Given the description of an element on the screen output the (x, y) to click on. 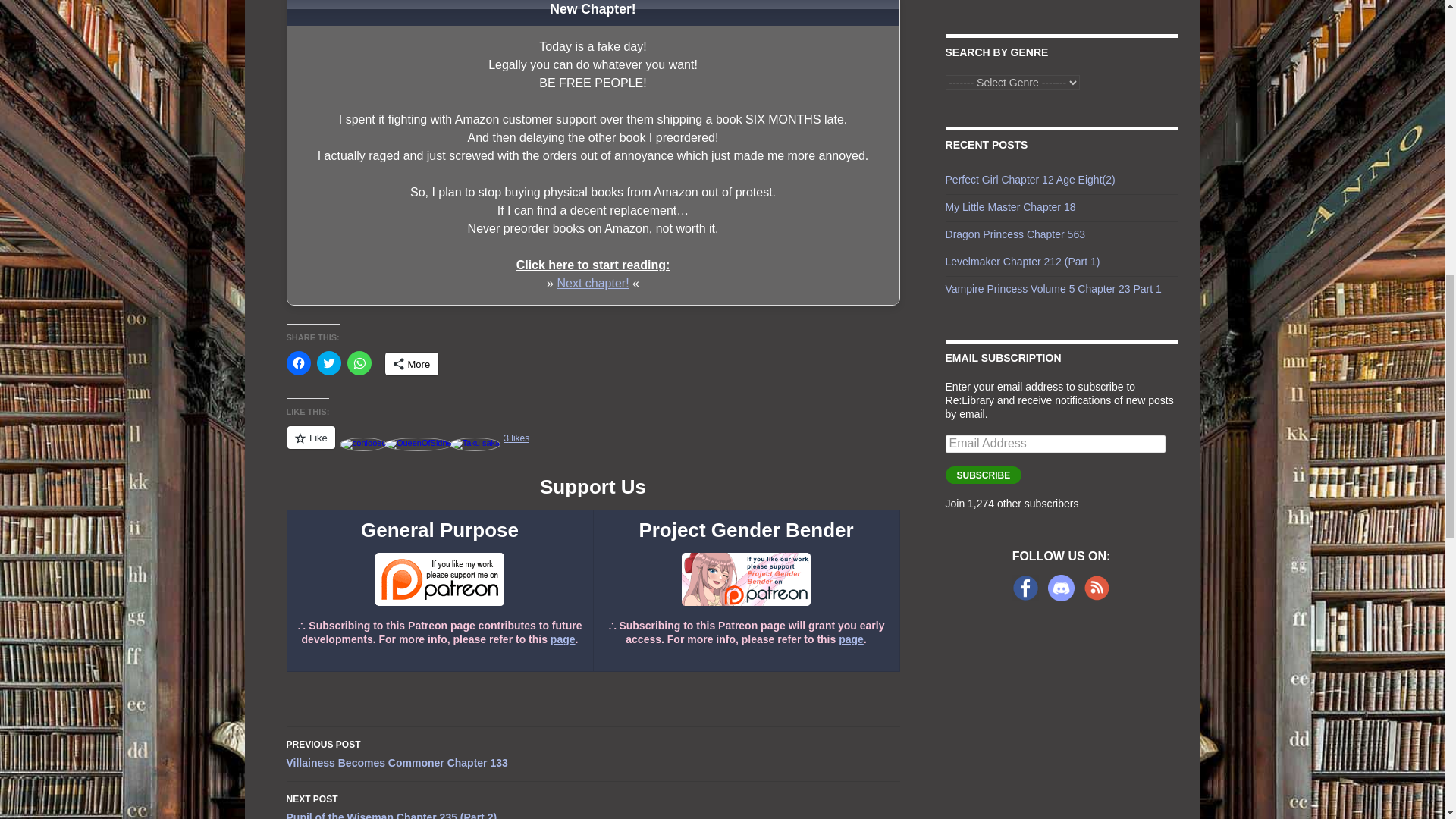
Like or Reblog (592, 445)
Click to share on Facebook (298, 363)
Click to share on Twitter (328, 363)
Click to share on WhatsApp (359, 363)
More (412, 363)
Next chapter! (592, 282)
